Given the description of an element on the screen output the (x, y) to click on. 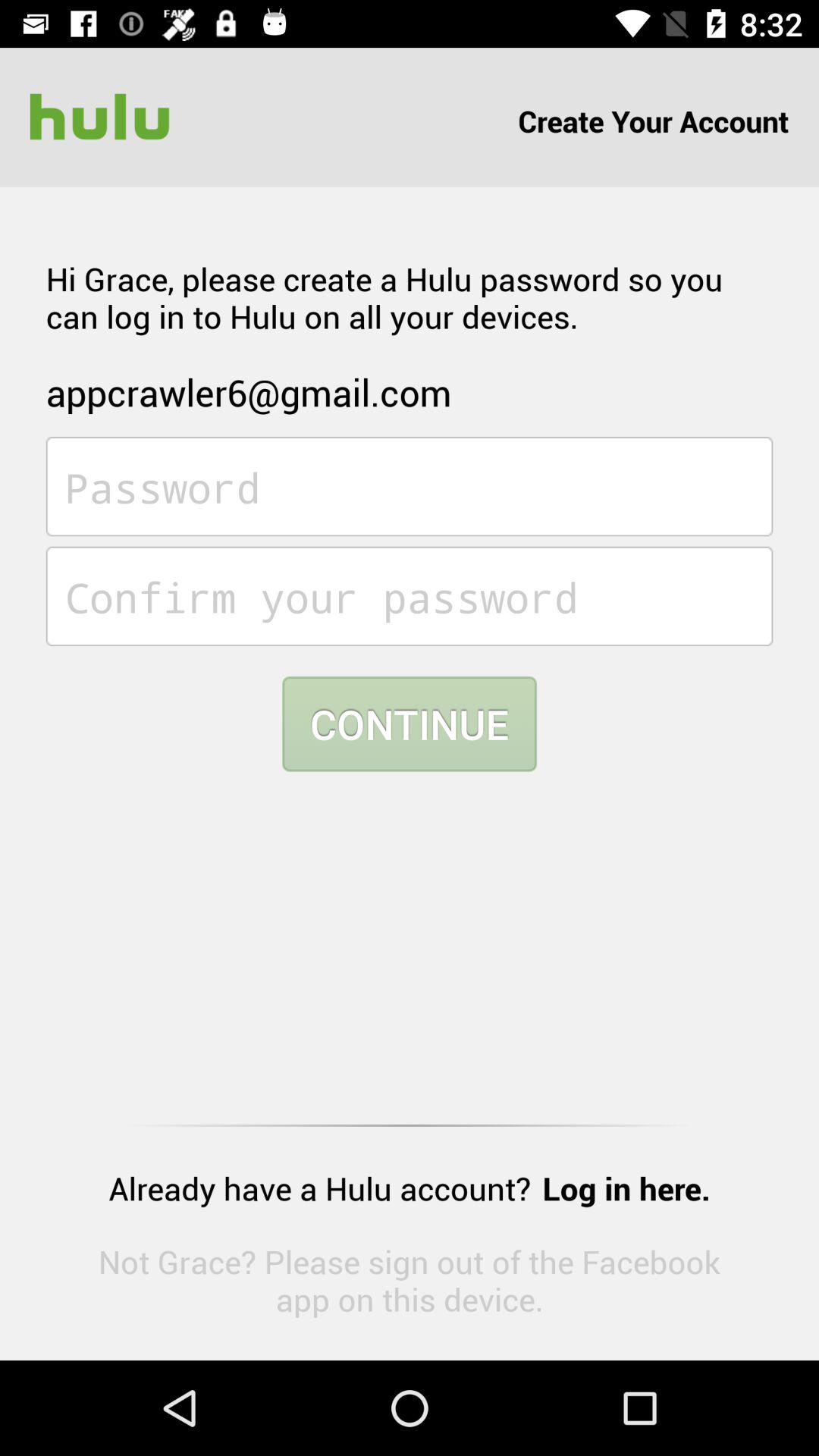
turn on item below already have a item (409, 1279)
